Given the description of an element on the screen output the (x, y) to click on. 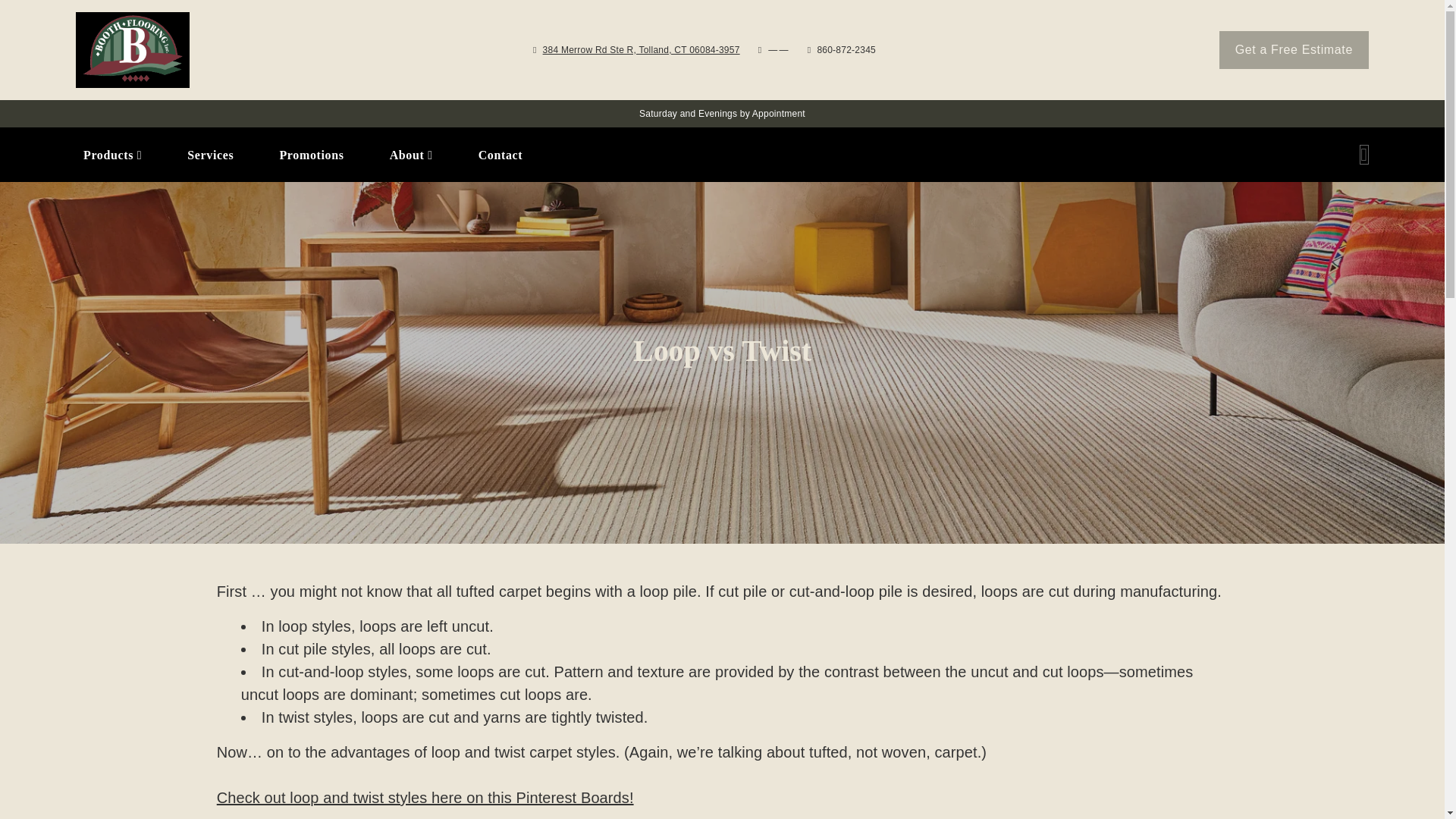
Promotions (310, 154)
860-872-2345 (846, 49)
Services (210, 154)
Products (112, 154)
Get a Free Estimate (1294, 49)
384 Merrow Rd Ste R, Tolland, CT 06084-3957 (641, 49)
About (411, 154)
